Given the description of an element on the screen output the (x, y) to click on. 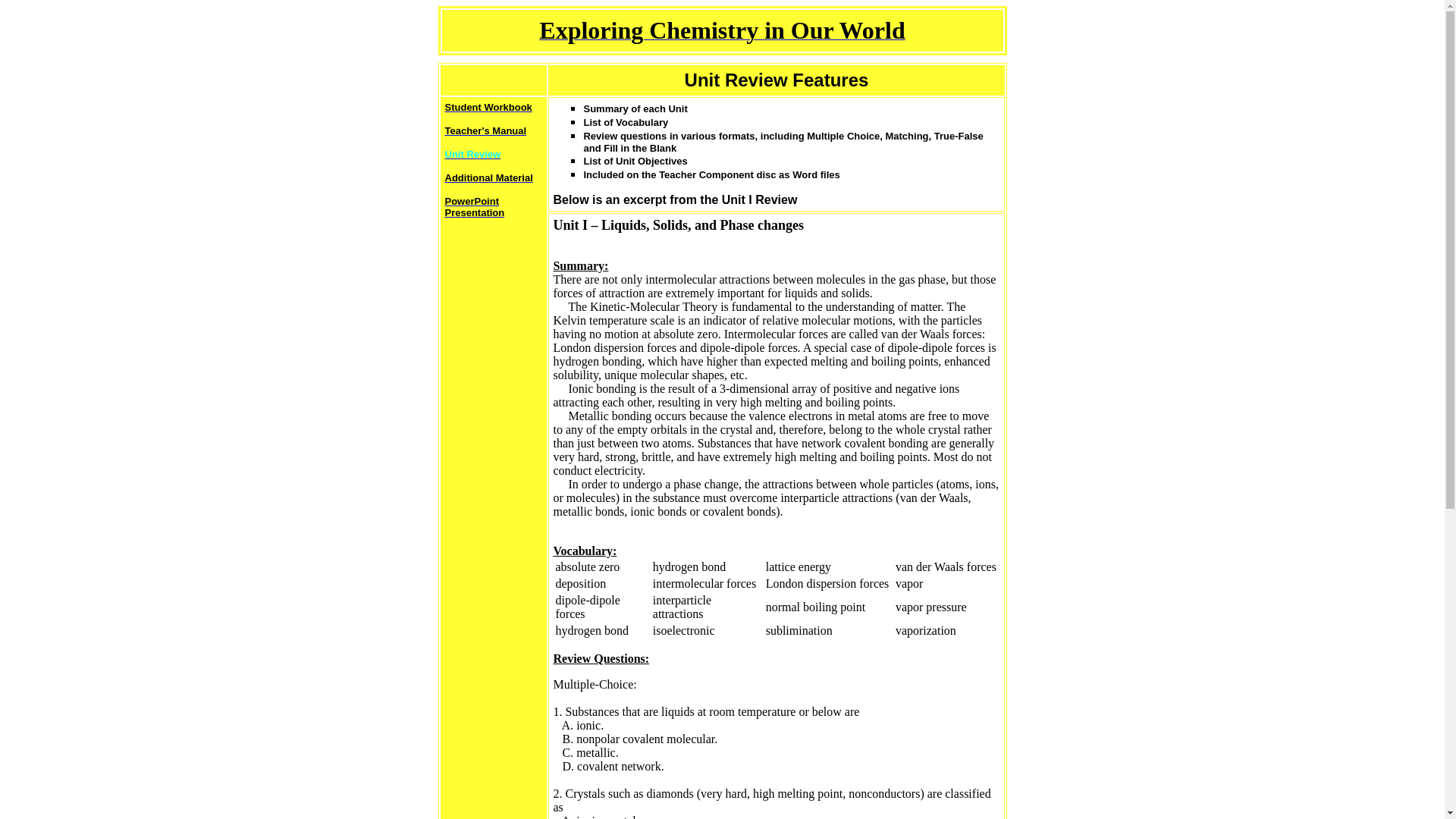
Student Workbook (487, 106)
Teacher's Manual (484, 129)
Exploring Chemistry in Our World (721, 33)
Unit Review (472, 153)
Additional Material (488, 176)
PowerPoint Presentation (473, 206)
